Given the description of an element on the screen output the (x, y) to click on. 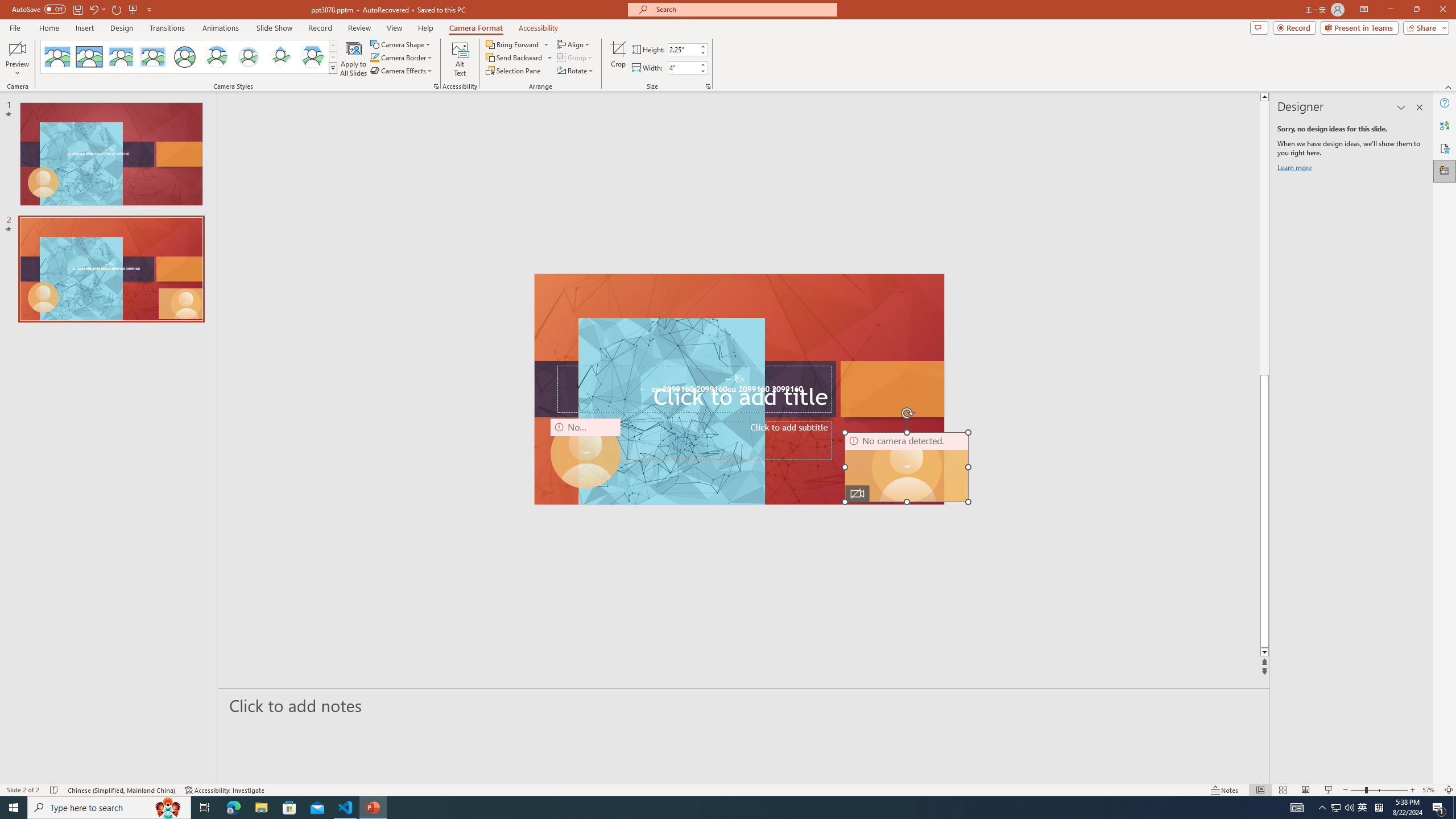
Camera Border (401, 56)
TextBox 61 (737, 390)
